Given the description of an element on the screen output the (x, y) to click on. 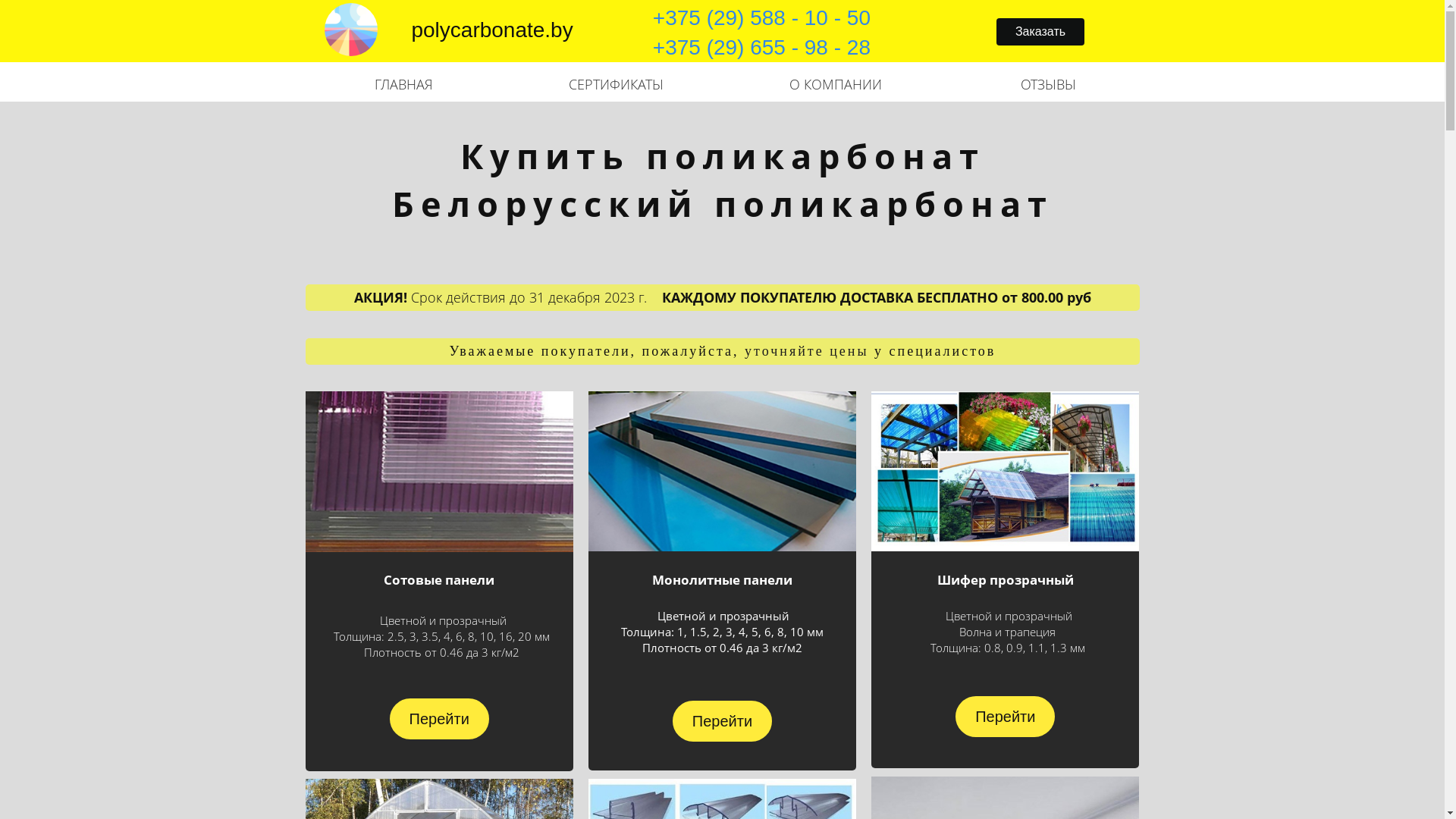
+375 (29) 655 - 98 - 28 Element type: text (761, 61)
+375 (29) 588 - 10 - 50 Element type: text (761, 17)
